Given the description of an element on the screen output the (x, y) to click on. 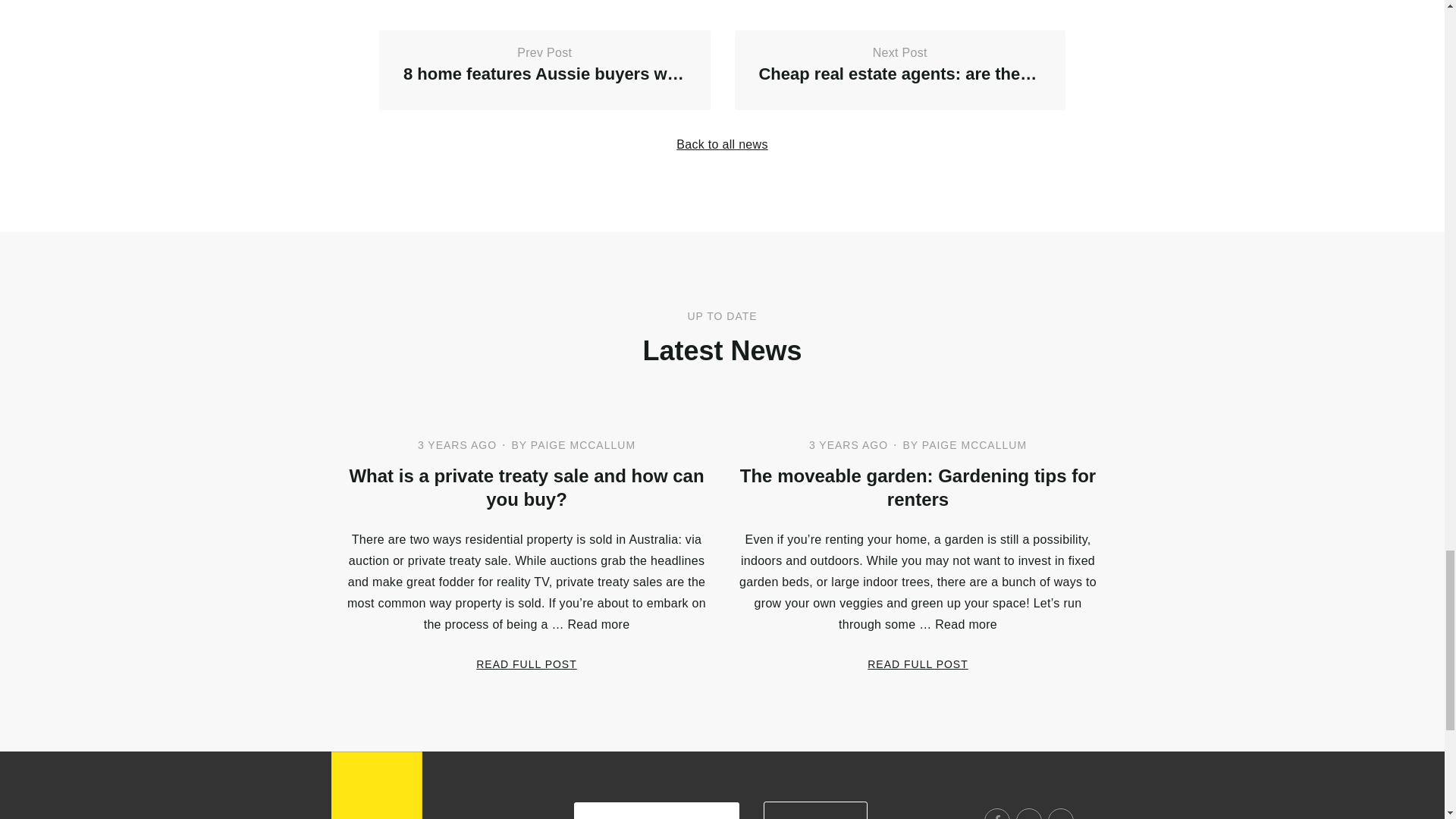
CONTACT US (814, 810)
Ray White (376, 785)
Back to all news (722, 144)
BOOK A FREE APPRAISAL (655, 810)
Instagram (1029, 813)
READ FULL POST (917, 663)
What is a private treaty sale and how can you buy? (544, 69)
READ FULL POST (526, 487)
Facebook (526, 663)
The moveable garden: Gardening tips for renters (997, 813)
Youtube (899, 69)
